Given the description of an element on the screen output the (x, y) to click on. 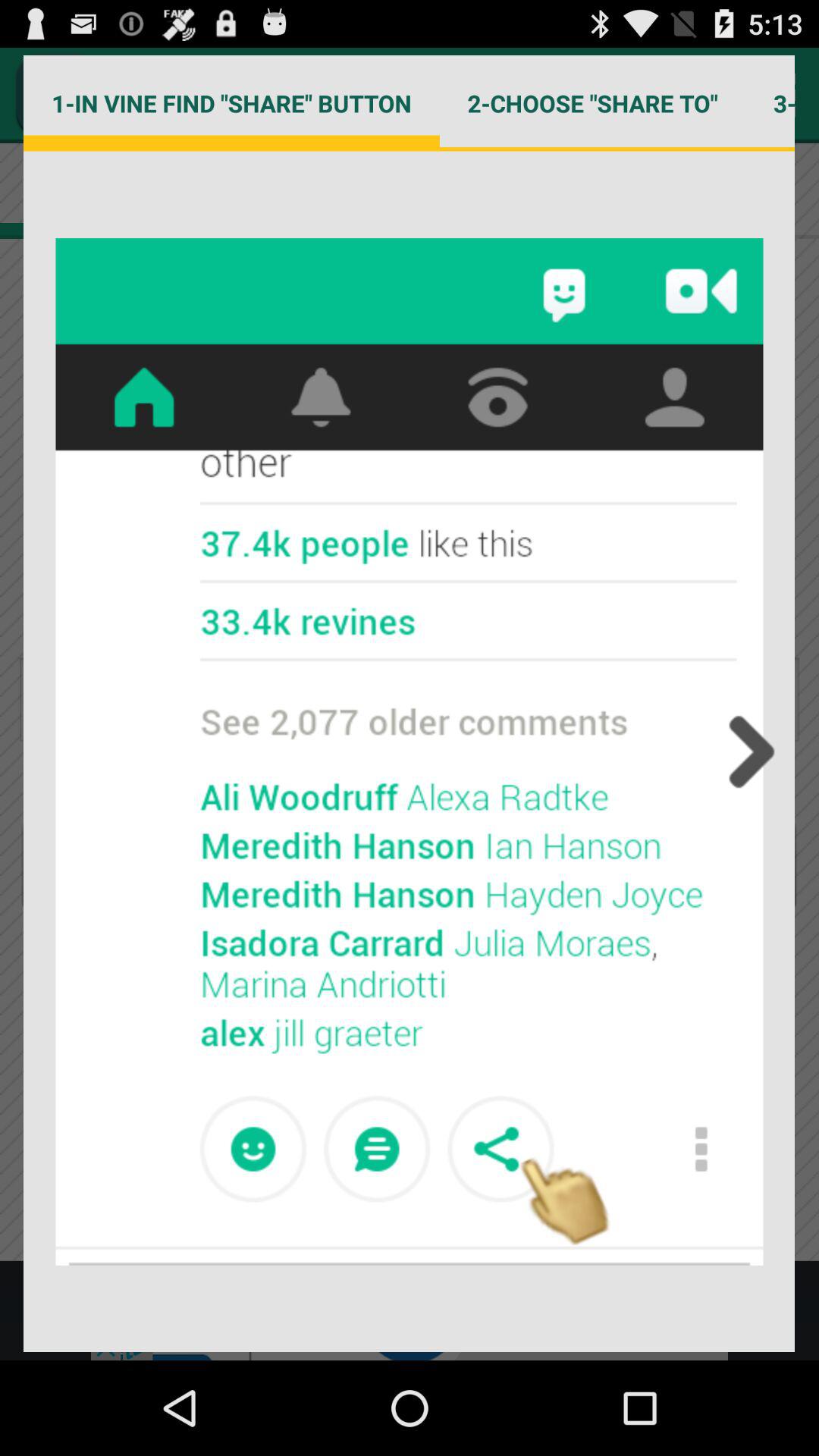
go forward (747, 751)
